Given the description of an element on the screen output the (x, y) to click on. 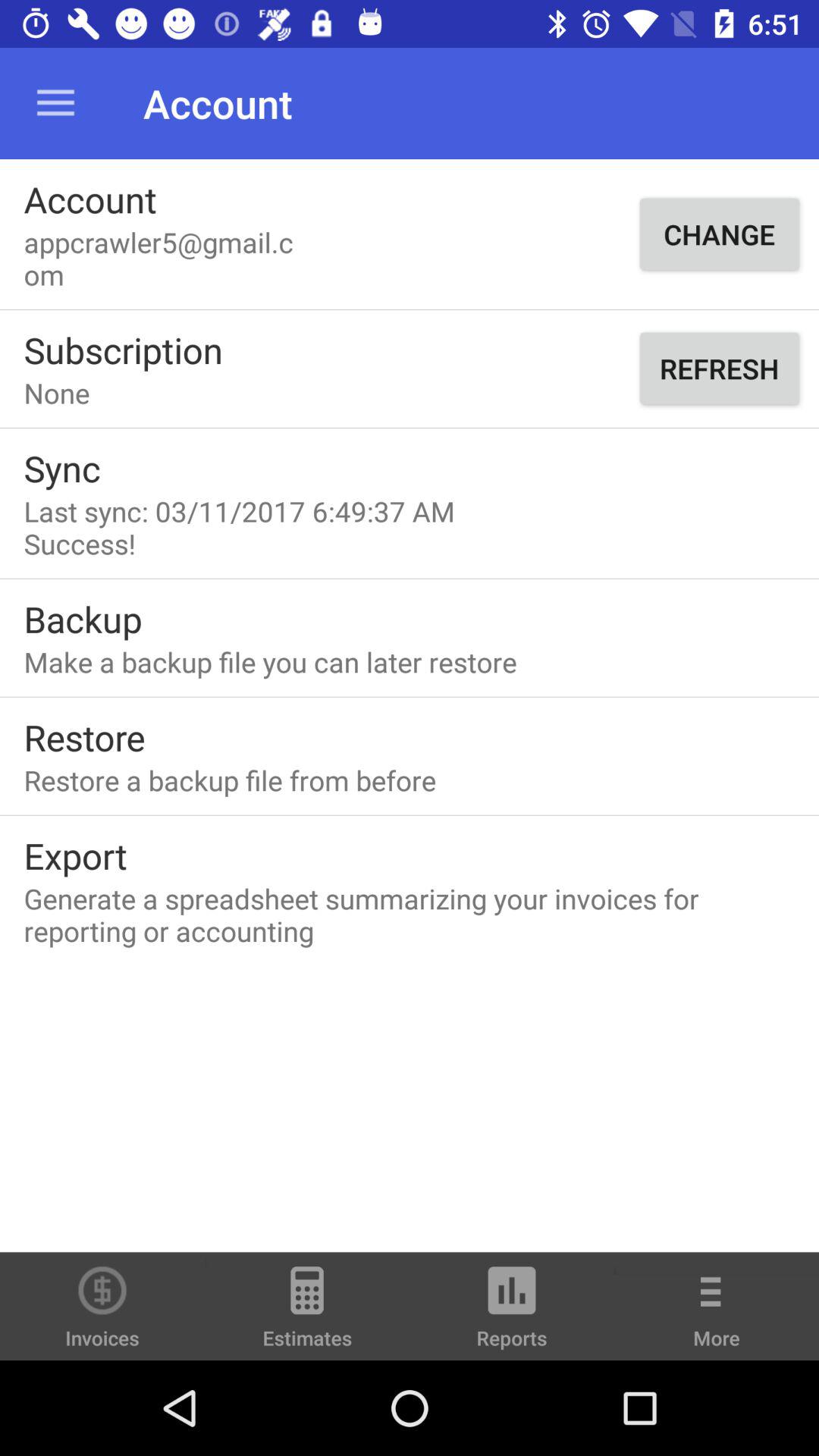
turn on reports icon (511, 1313)
